Given the description of an element on the screen output the (x, y) to click on. 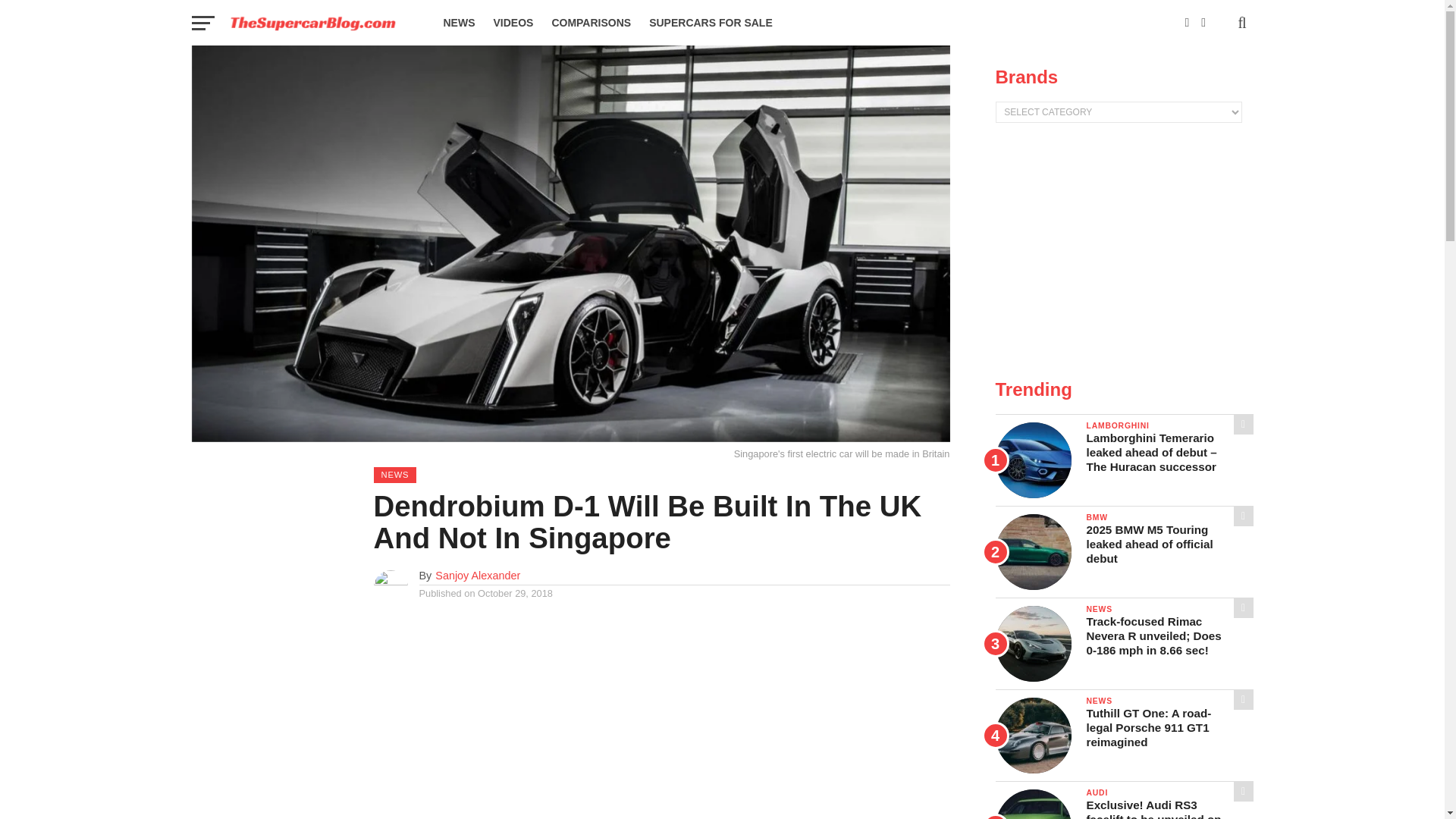
COMPARISONS (590, 22)
Posts by Sanjoy Alexander (477, 575)
VIDEOS (512, 22)
NEWS (458, 22)
Sanjoy Alexander (477, 575)
SUPERCARS FOR SALE (710, 22)
